Given the description of an element on the screen output the (x, y) to click on. 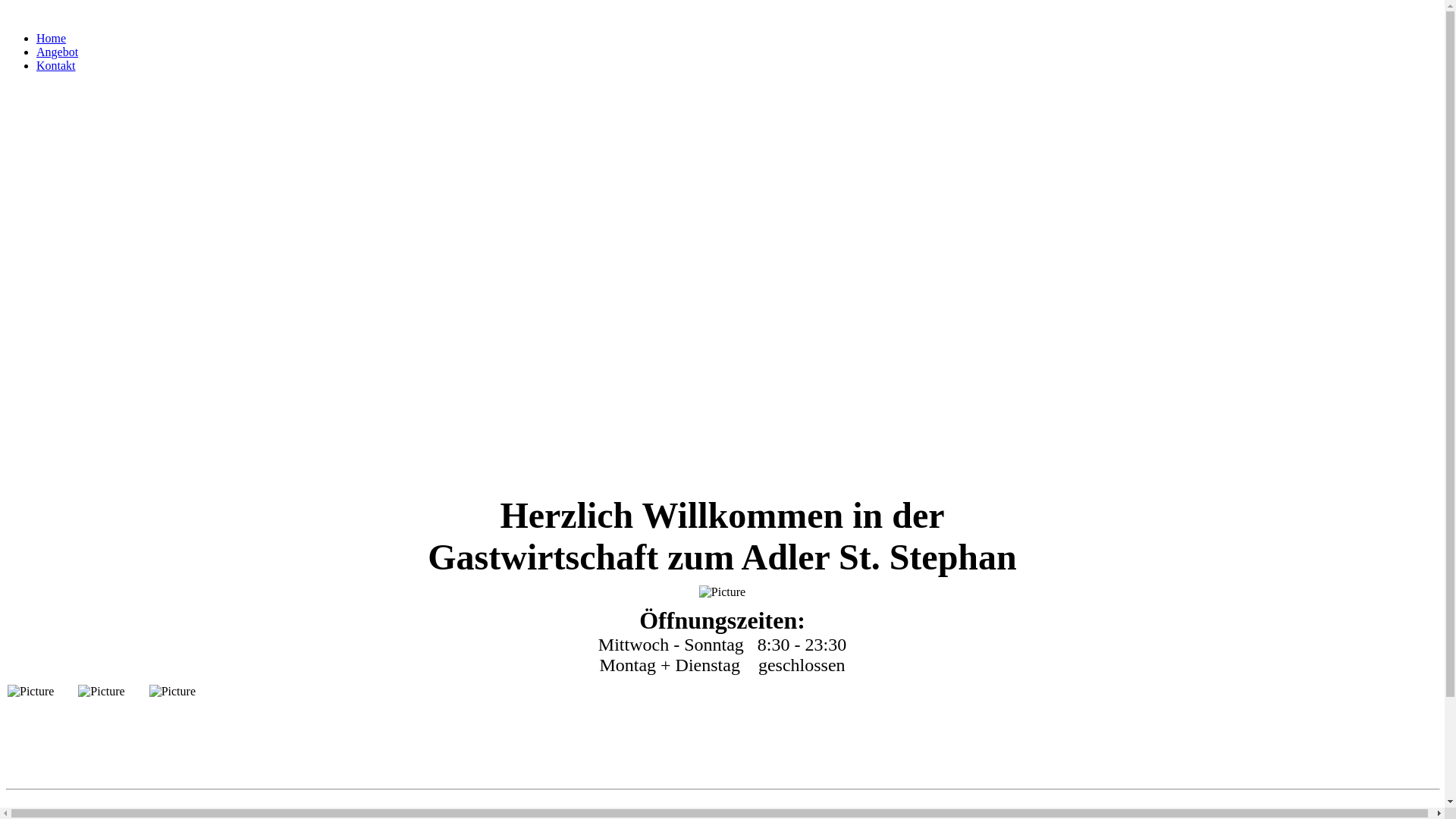
Angebot Element type: text (57, 51)
Home Element type: text (50, 37)
Kontakt Element type: text (55, 65)
